Given the description of an element on the screen output the (x, y) to click on. 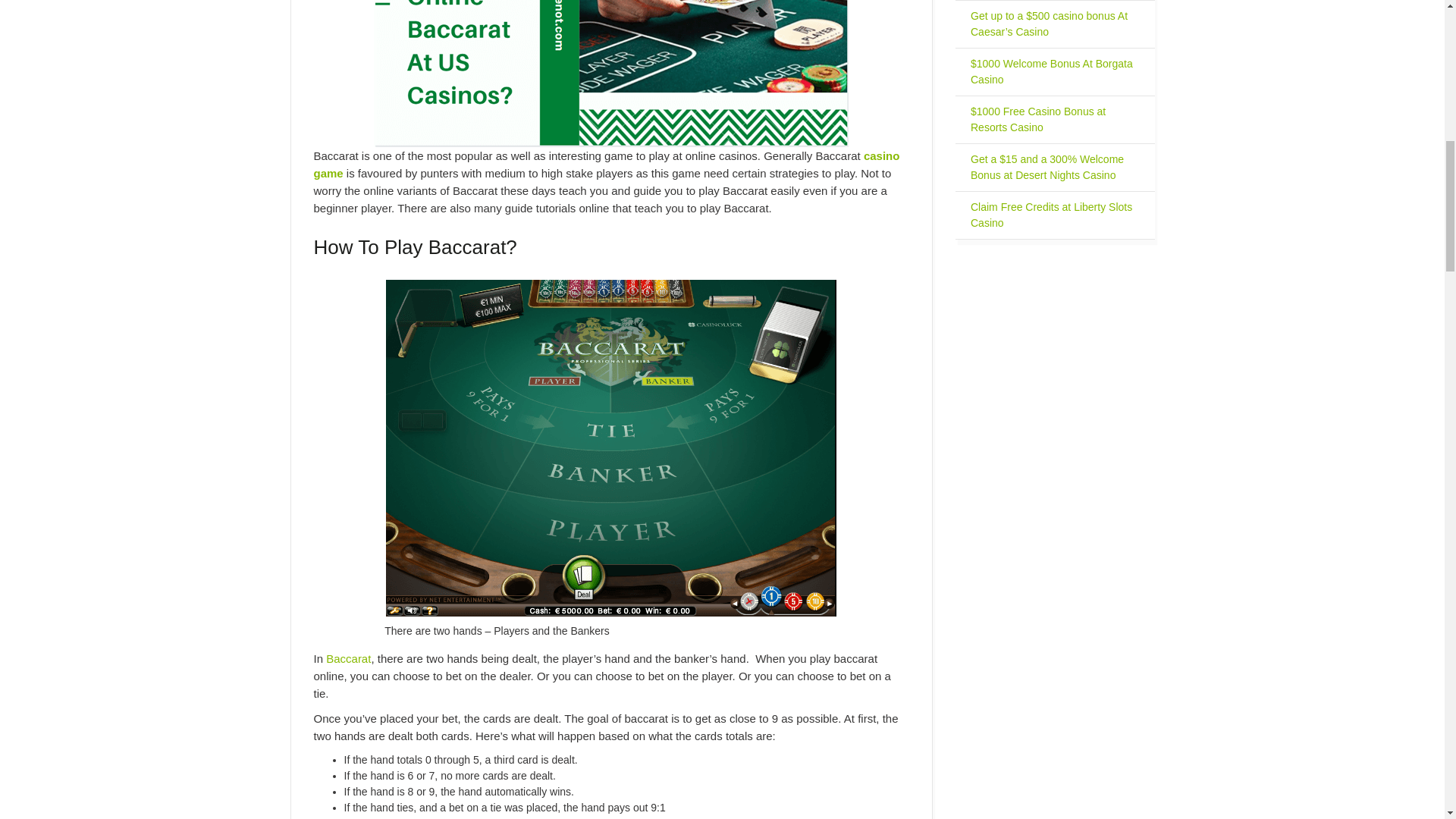
casino game (606, 164)
Baccarat (348, 658)
How To Play Online Baccarat At US Casinos? (611, 73)
